Given the description of an element on the screen output the (x, y) to click on. 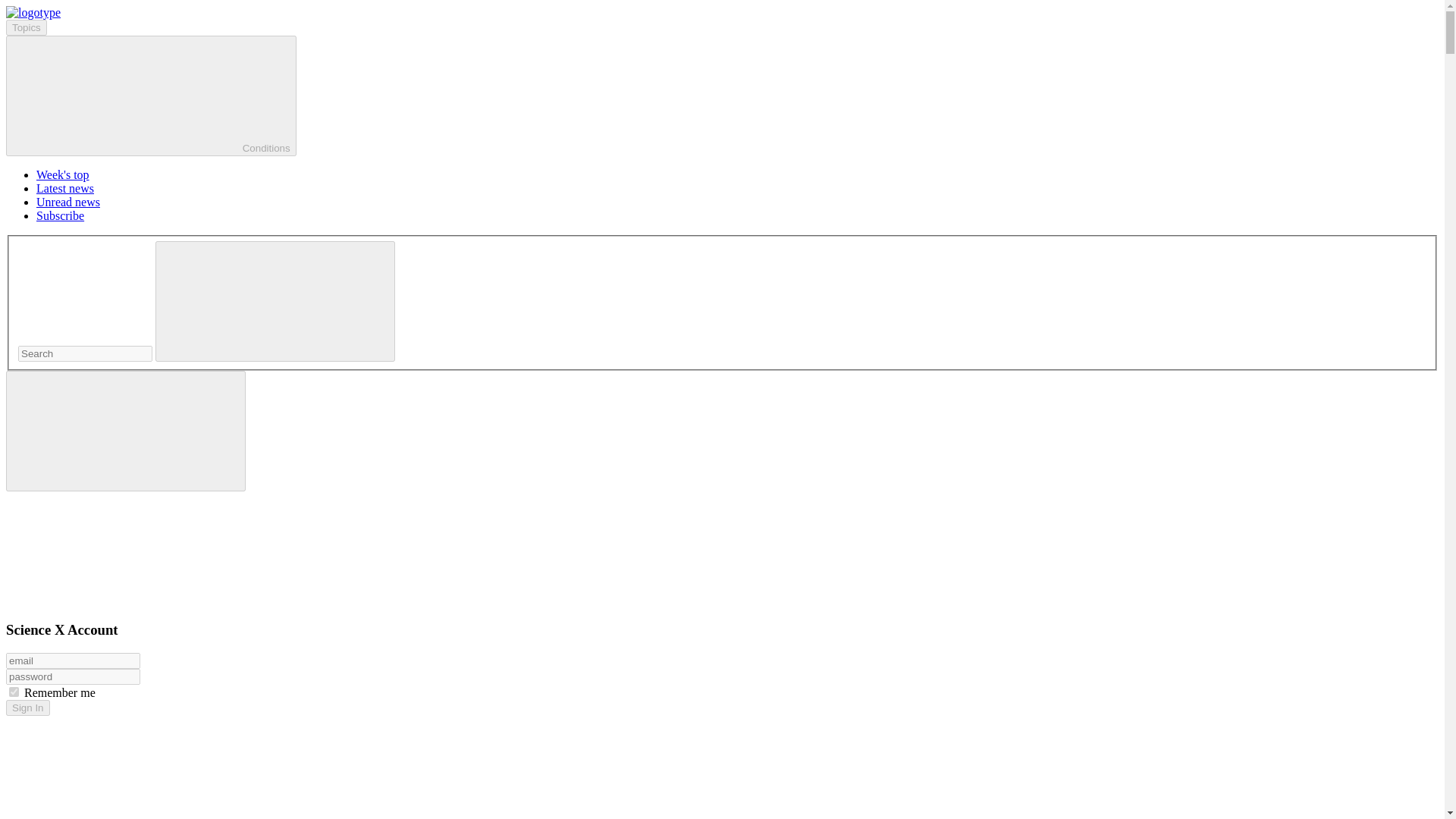
Latest news (65, 187)
Unread news (68, 201)
Week's top (62, 174)
on (13, 691)
Topics (25, 27)
Subscribe (60, 215)
Conditions (151, 96)
Sign In (27, 707)
